Given the description of an element on the screen output the (x, y) to click on. 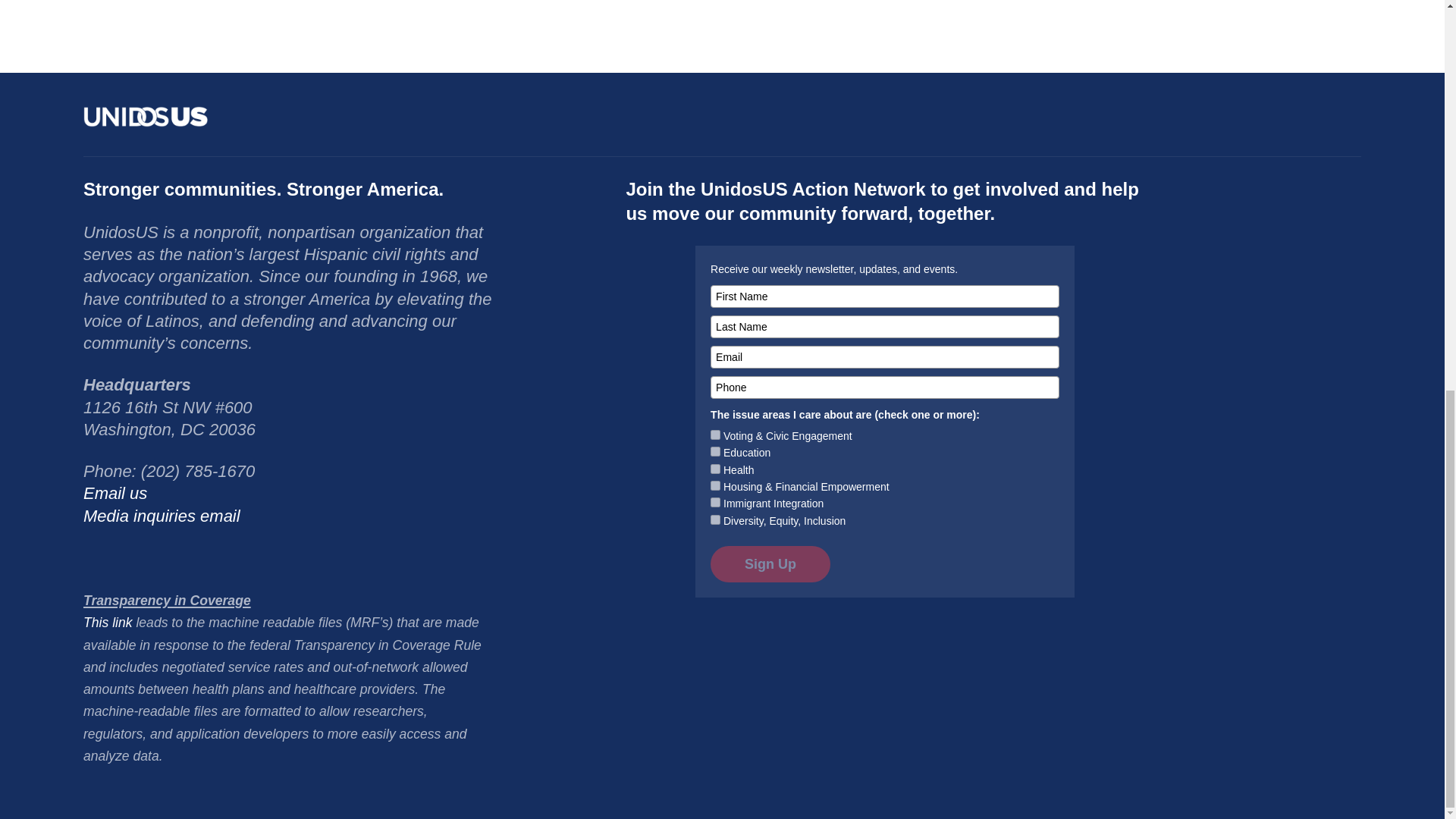
Health (715, 469)
Education (715, 451)
Immigrant Integration (715, 501)
Diversity, Equity, Inclusion (715, 519)
